Given the description of an element on the screen output the (x, y) to click on. 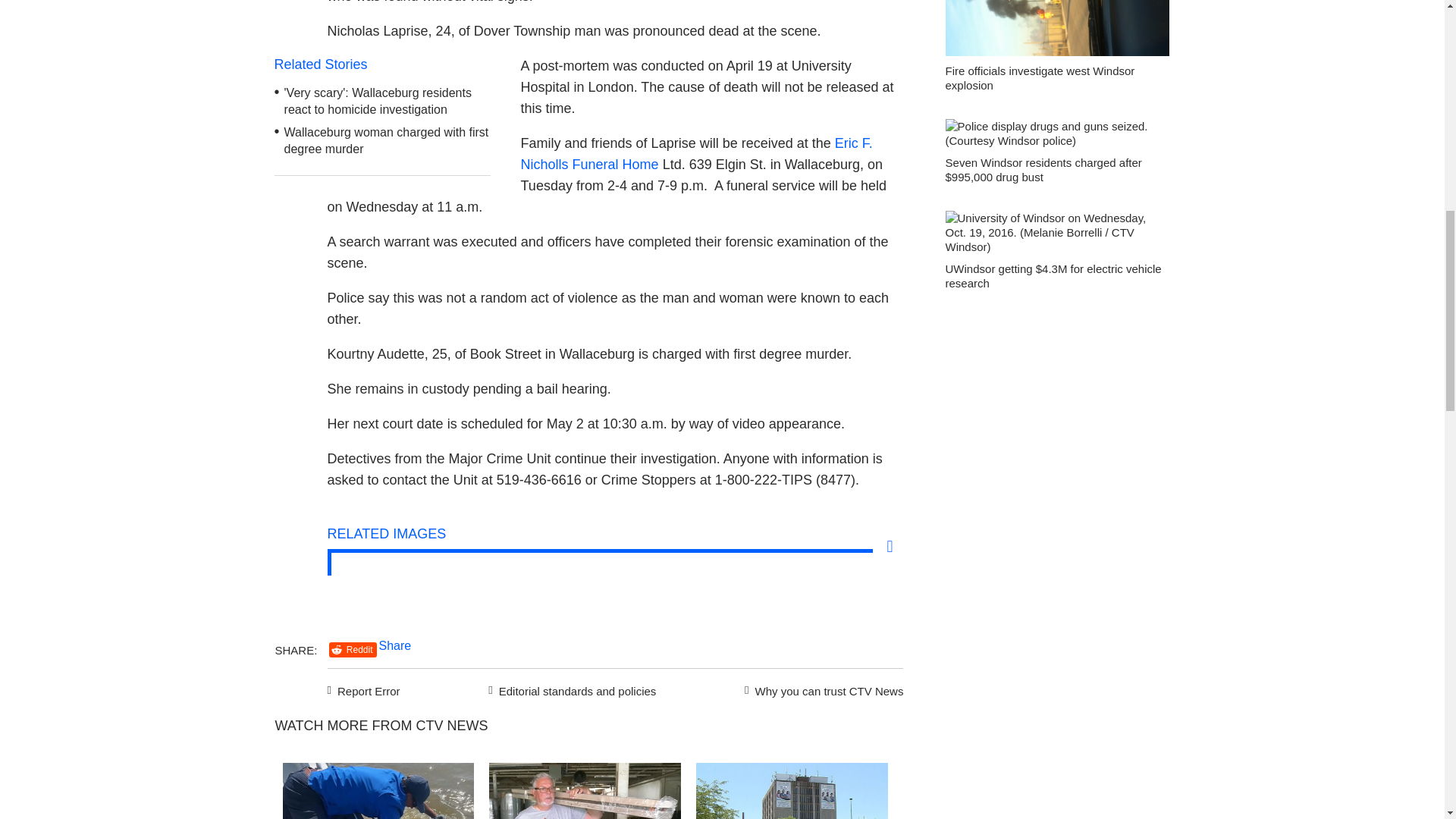
Wallaceburg woman charged with first degree murder (386, 141)
Why you can trust CTV News (820, 689)
false (378, 790)
Reddit (353, 649)
Local charity welcomes partnership (585, 790)
false (791, 790)
Report Error (363, 689)
Editorial standards and policies (569, 689)
false (585, 790)
Boaters clean up St. Clair (378, 790)
